Given the description of an element on the screen output the (x, y) to click on. 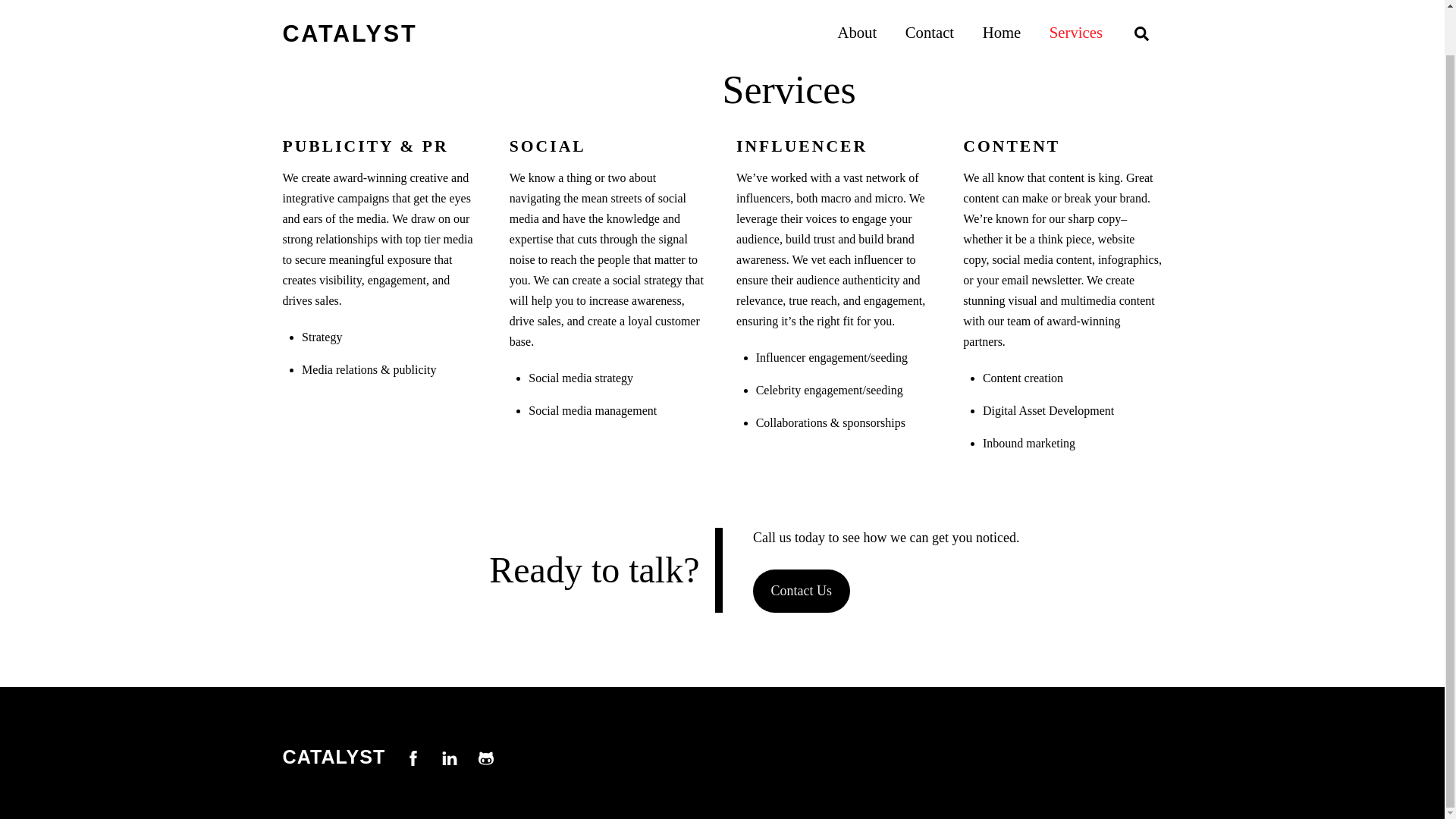
Contact Us (801, 590)
CATALYST (721, 766)
Contact (929, 2)
catalyst (333, 756)
Services (1075, 2)
About (857, 2)
Home (333, 756)
Search (1001, 2)
